Given the description of an element on the screen output the (x, y) to click on. 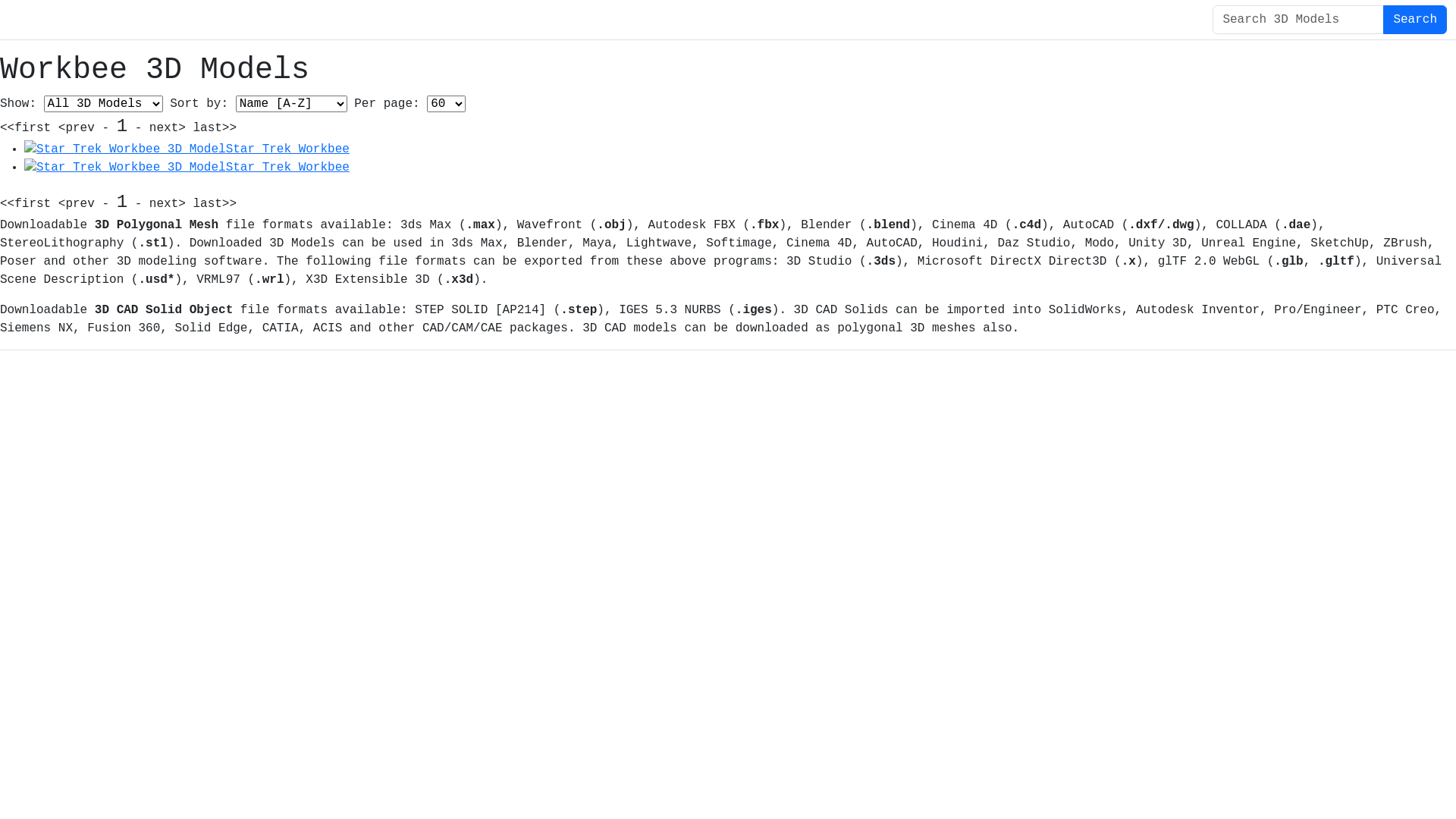
Catalog Element type: text (646, 19)
Privacy Policy Element type: text (382, 362)
3DCADBrowser Element type: text (85, 19)
Login Element type: text (798, 19)
Support Element type: text (471, 362)
Star Trek Workbee Element type: text (186, 149)
Search Element type: text (1414, 19)
Terms Of Use Element type: text (273, 362)
Star Trek Workbee Element type: text (186, 167)
Home Element type: text (583, 19)
Register Element type: text (726, 19)
